Given the description of an element on the screen output the (x, y) to click on. 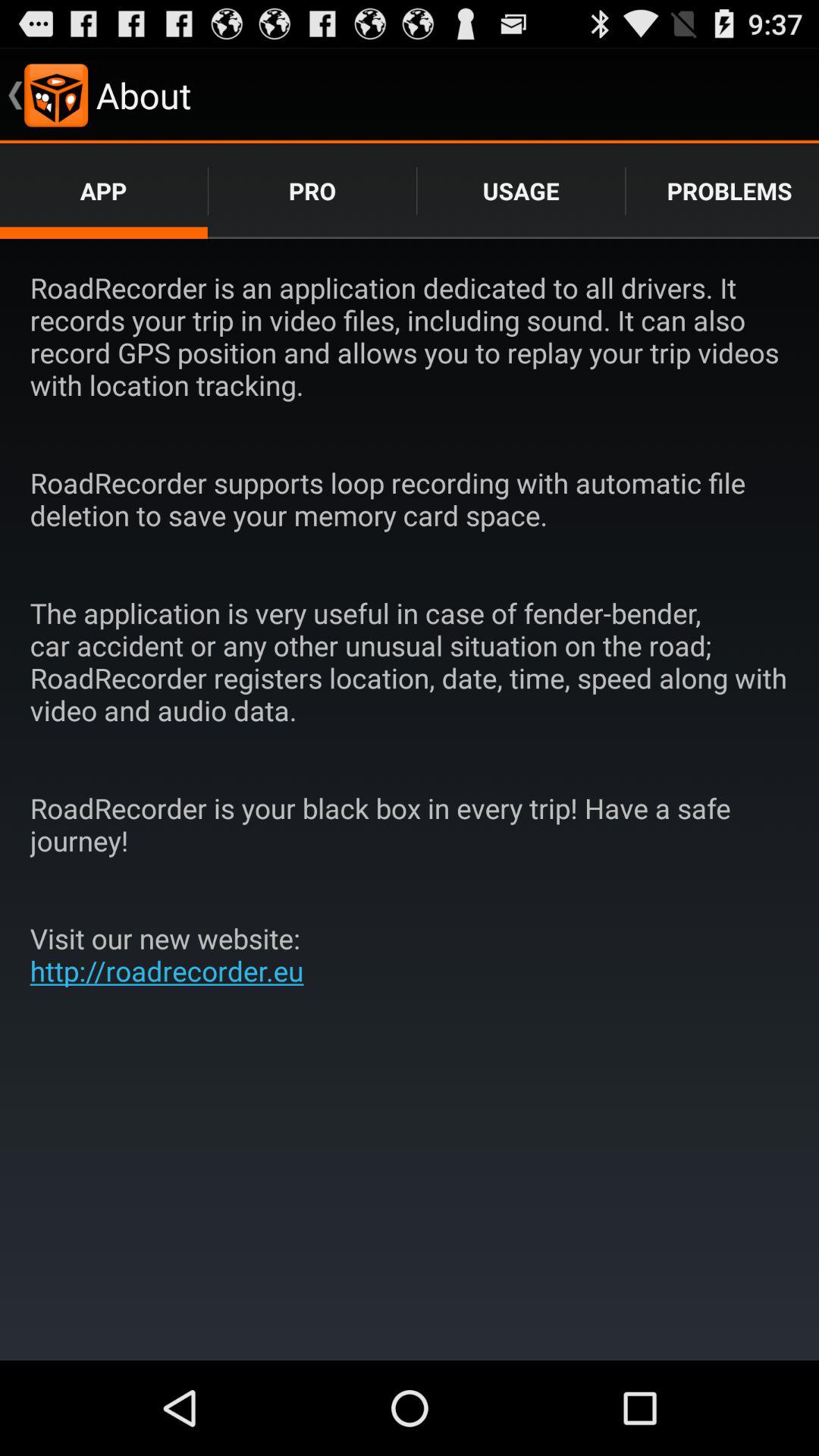
open visit our new item (172, 954)
